Given the description of an element on the screen output the (x, y) to click on. 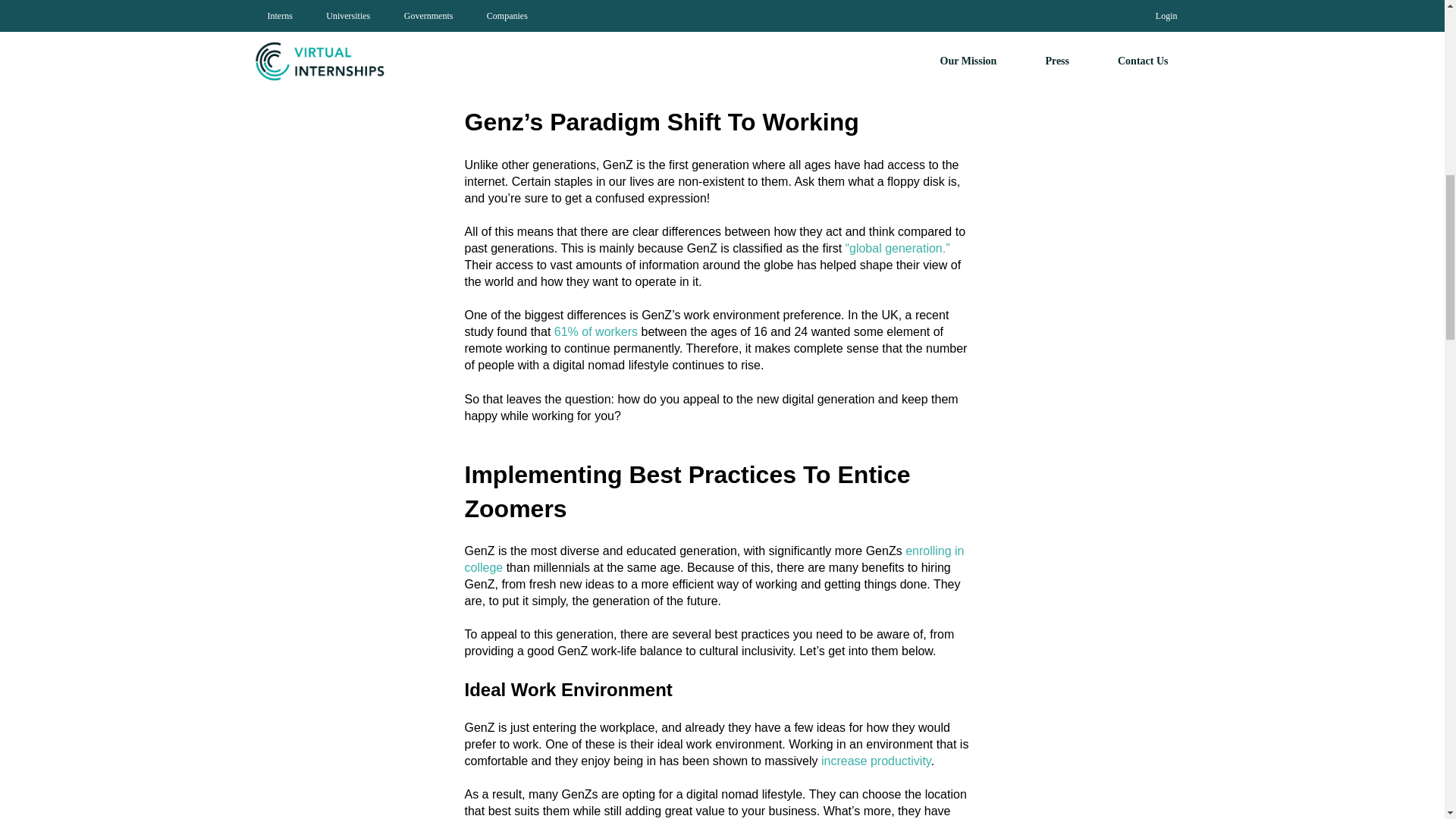
enrolling in college (713, 559)
increase productivity (876, 760)
